Given the description of an element on the screen output the (x, y) to click on. 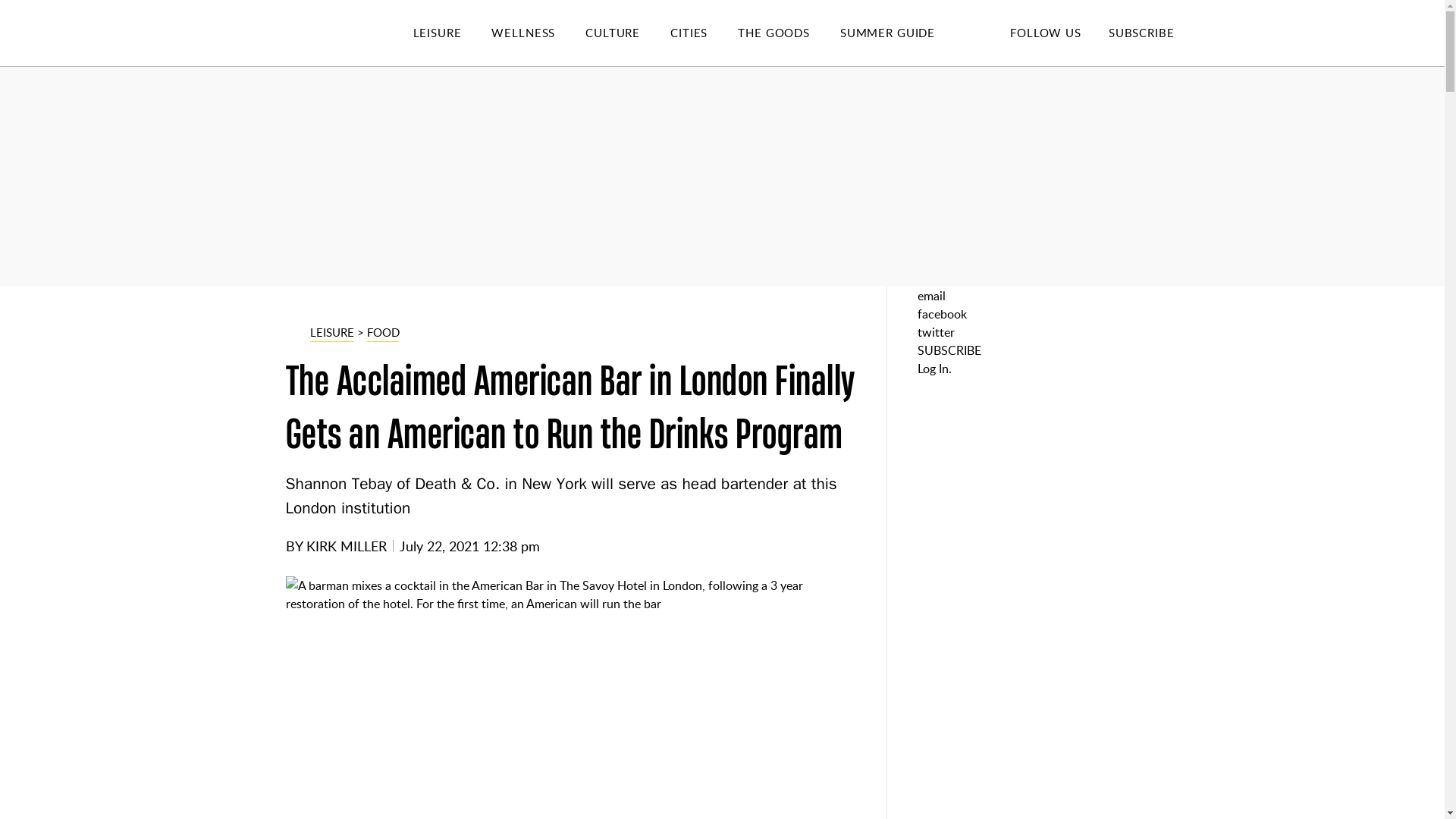
LEISURE (452, 32)
CITIES (703, 32)
WELLNESS (538, 32)
SUBSCRIBE (1141, 31)
SUMMER GUIDE (902, 32)
CULTURE (627, 32)
THE GOODS (789, 32)
FOLLOW US (1045, 32)
